Given the description of an element on the screen output the (x, y) to click on. 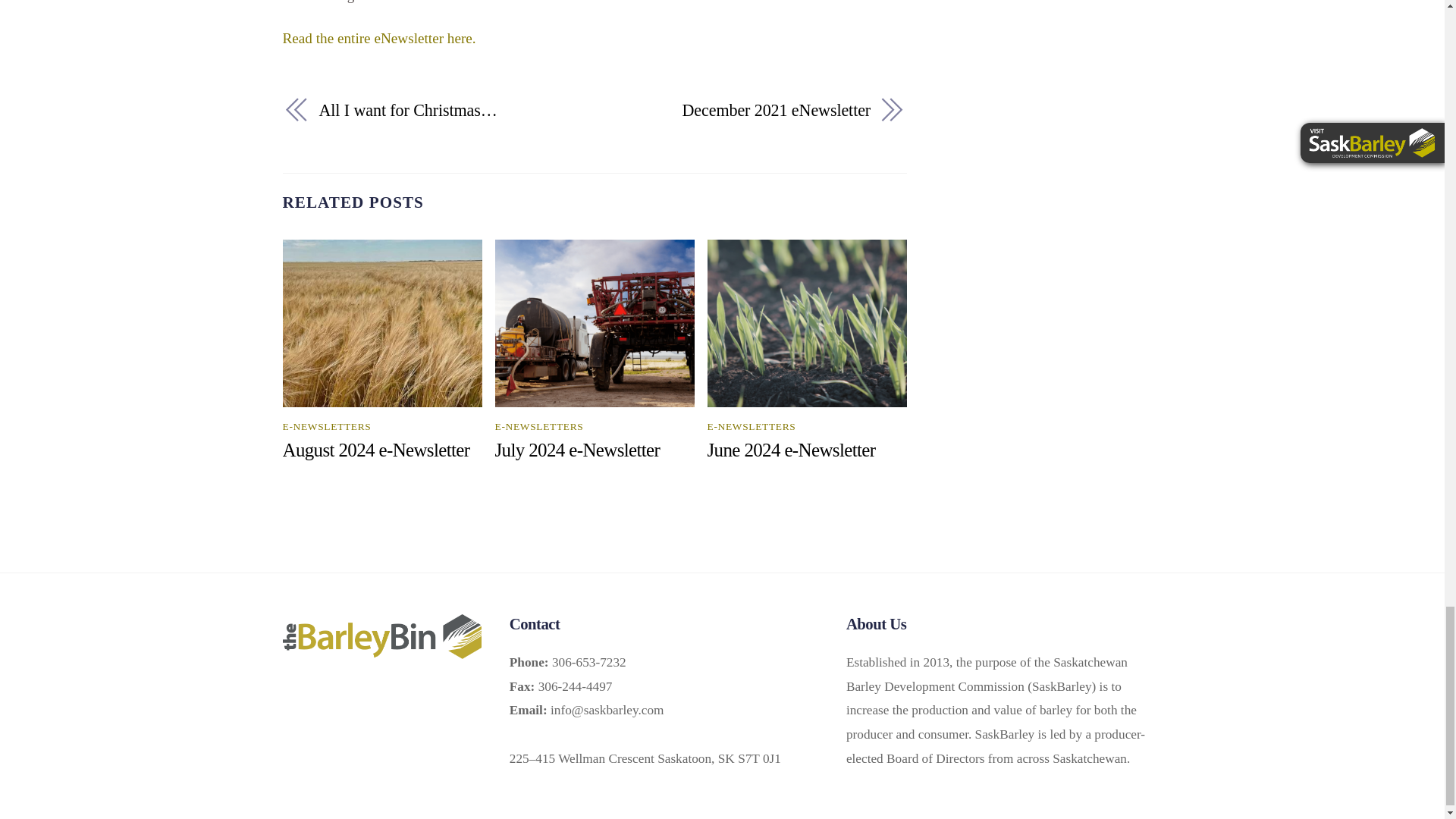
Mature-Barley (381, 323)
August 2024 e-Newsletter (375, 449)
ENewsletter Title Cards (595, 323)
June 2024 e-Newsletter (791, 449)
December 2021 eNewsletter (741, 110)
July 2024 e-Newsletter (578, 449)
E-NEWSLETTERS (751, 426)
19 (807, 323)
June 2024 e-Newsletter (791, 449)
The Barley Bin (381, 649)
